Given the description of an element on the screen output the (x, y) to click on. 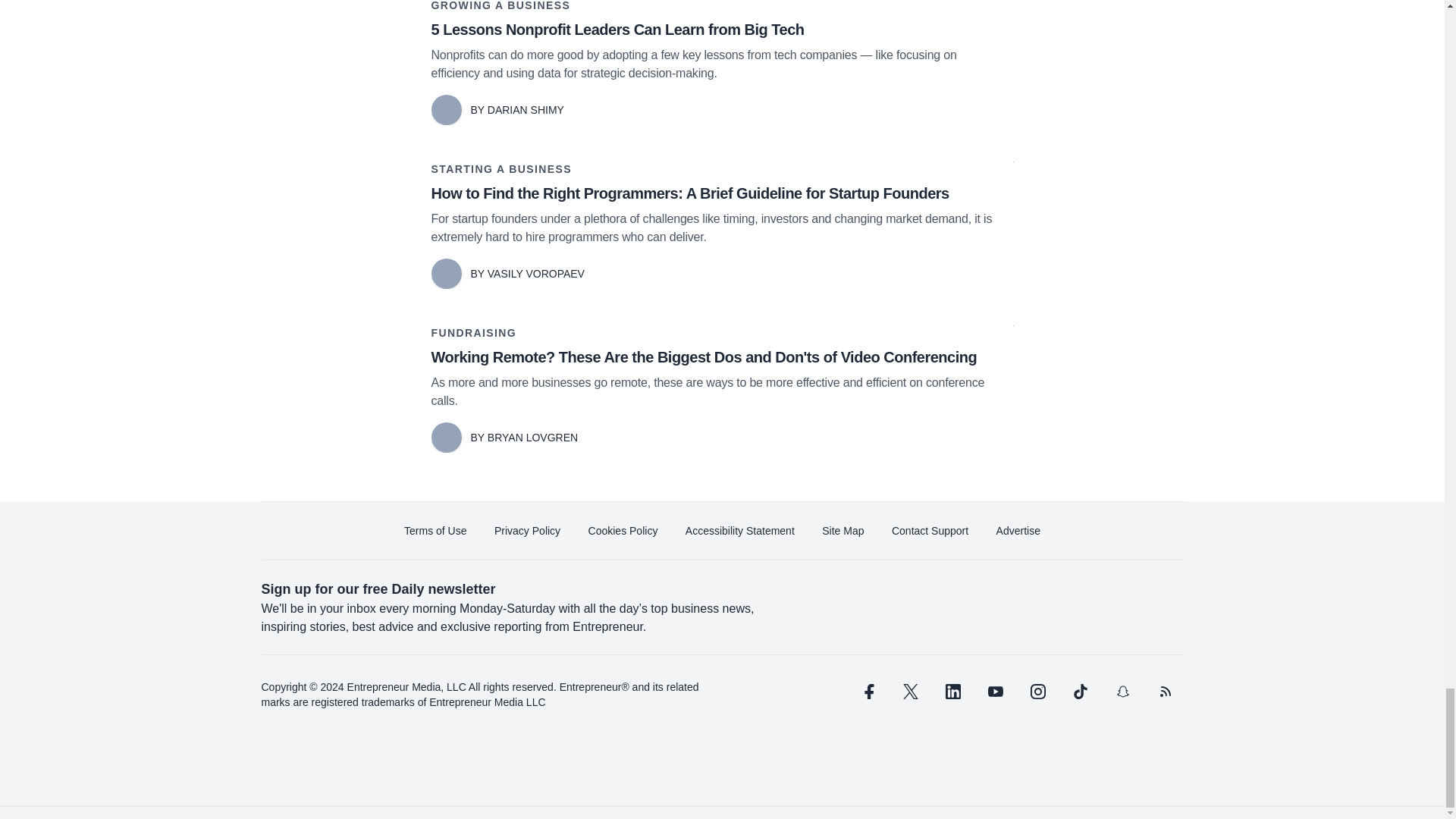
tiktok (1079, 691)
snapchat (1121, 691)
facebook (866, 691)
twitter (909, 691)
youtube (994, 691)
instagram (1037, 691)
linkedin (952, 691)
